Given the description of an element on the screen output the (x, y) to click on. 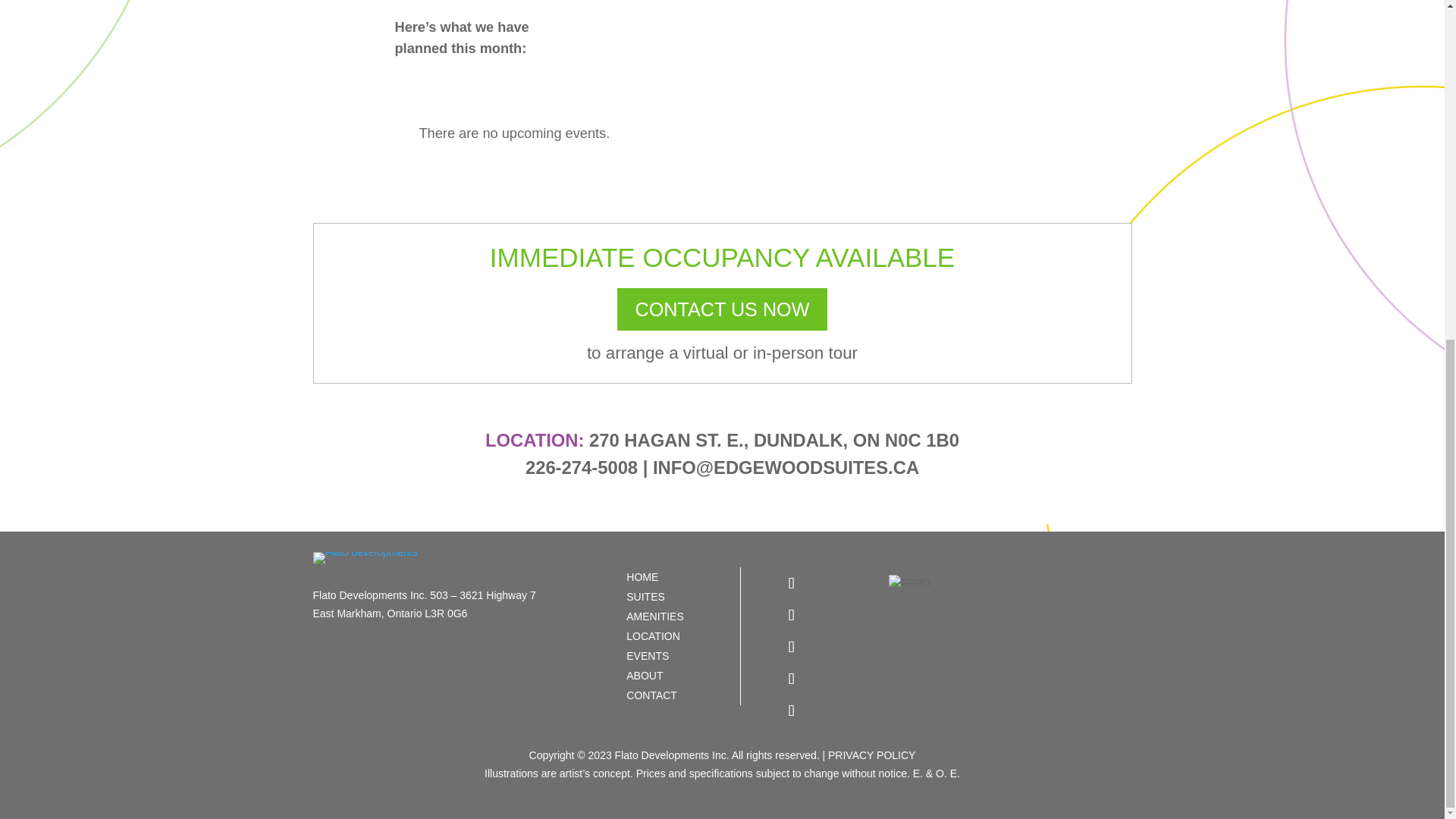
CONTACT (677, 695)
HOME (677, 577)
Follow on Twitter (792, 614)
Follow on Youtube (792, 710)
ABOUT (677, 675)
Follow on LinkedIn (792, 678)
Follow on Instagram (792, 646)
LOCATION (677, 636)
EVENTS (677, 655)
Follow on Facebook (792, 582)
PRIVACY POLICY (871, 755)
AMENITIES (677, 616)
CONTACT US NOW (722, 309)
SUITES (677, 596)
